Given the description of an element on the screen output the (x, y) to click on. 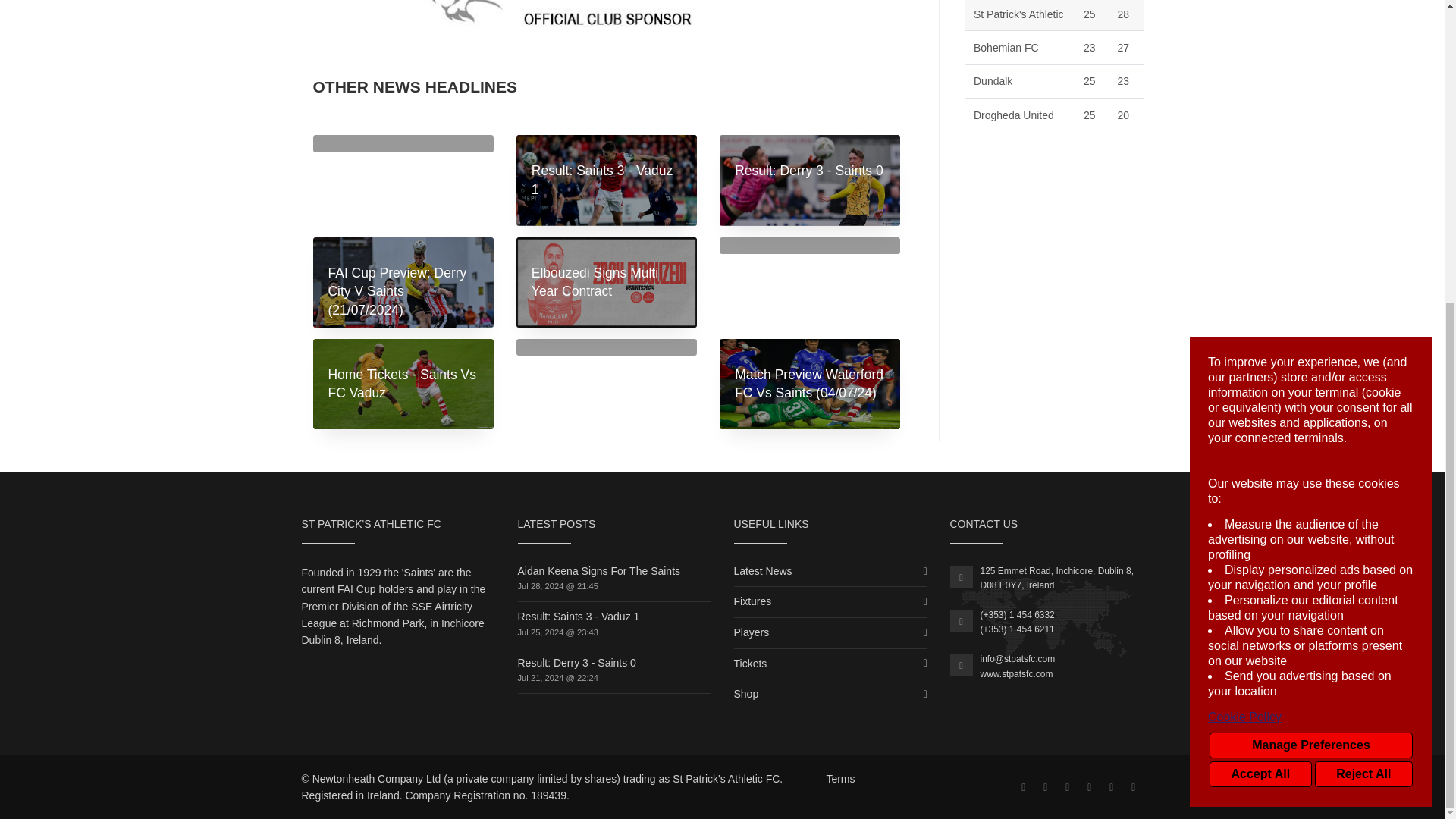
Reject All (1363, 301)
Cookie Policy (1310, 244)
Accept All (1260, 301)
Manage Preferences (1310, 272)
